Given the description of an element on the screen output the (x, y) to click on. 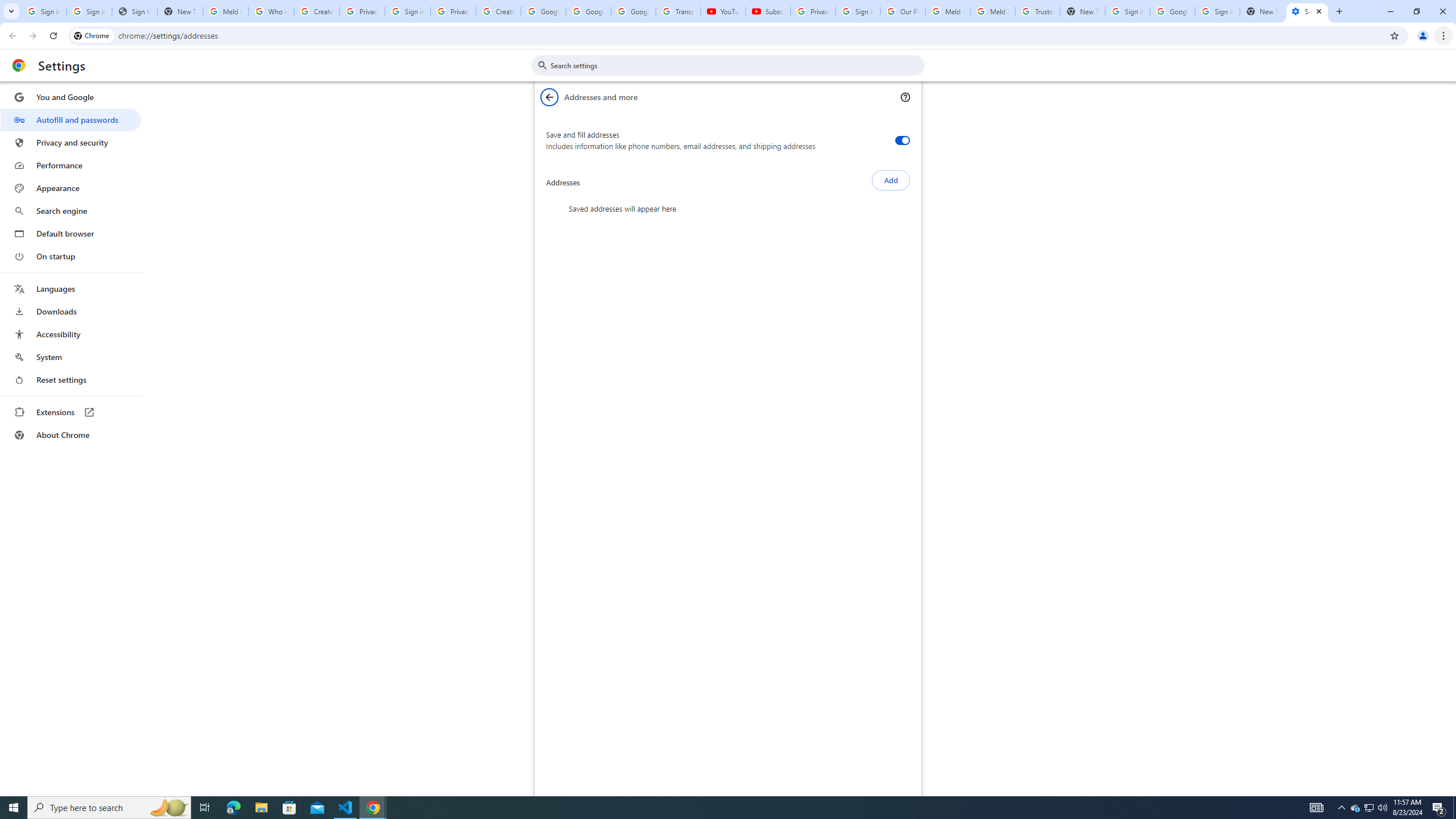
YouTube (723, 11)
Downloads (70, 311)
Privacy and security (70, 142)
Google Cybersecurity Innovations - Google Safety Center (1171, 11)
Create your Google Account (316, 11)
Appearance (70, 187)
